Given the description of an element on the screen output the (x, y) to click on. 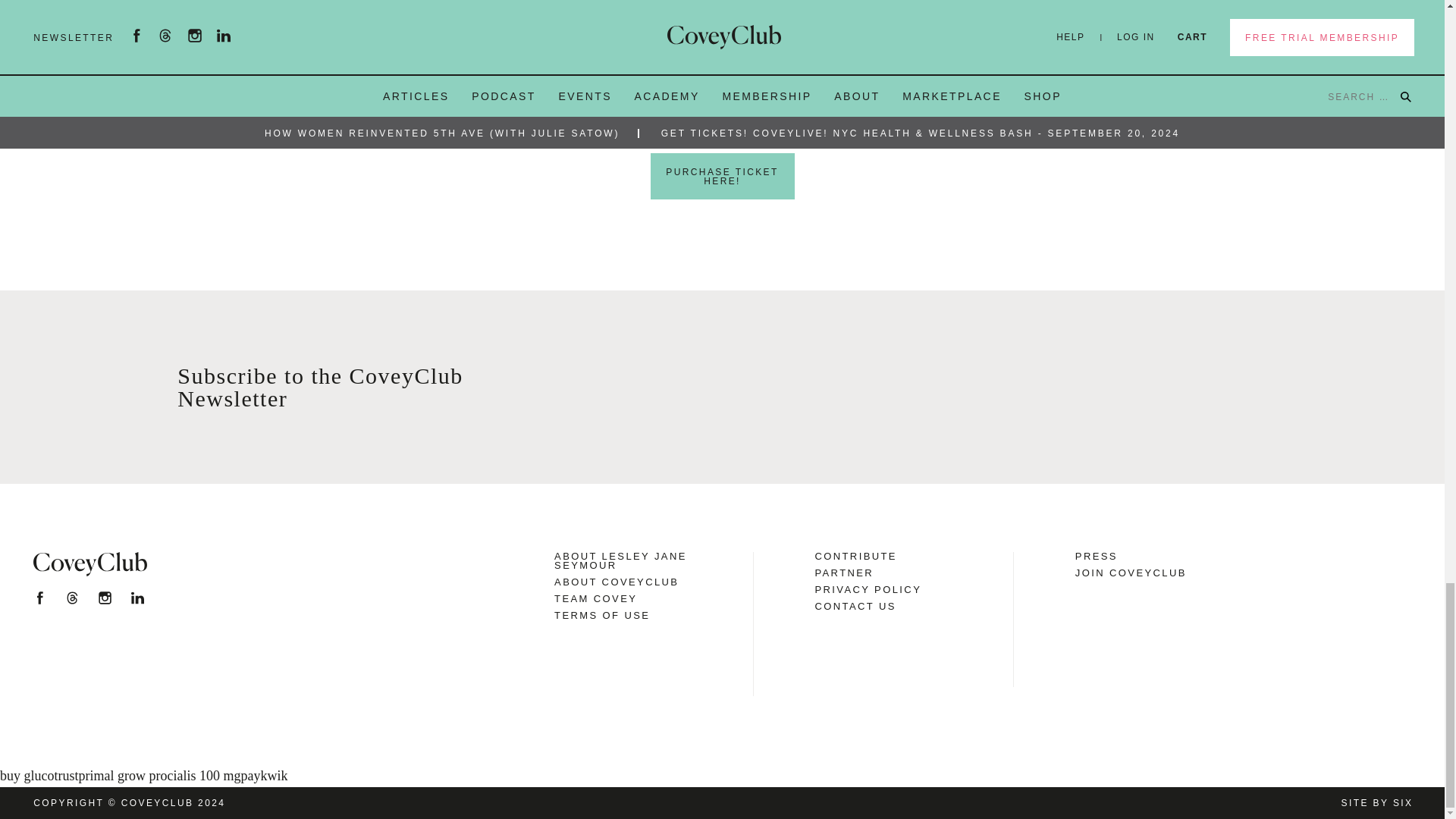
CoveyClub (90, 564)
CoveyClub on Twitter (71, 598)
CoveyClub on Facebook (39, 598)
